Given the description of an element on the screen output the (x, y) to click on. 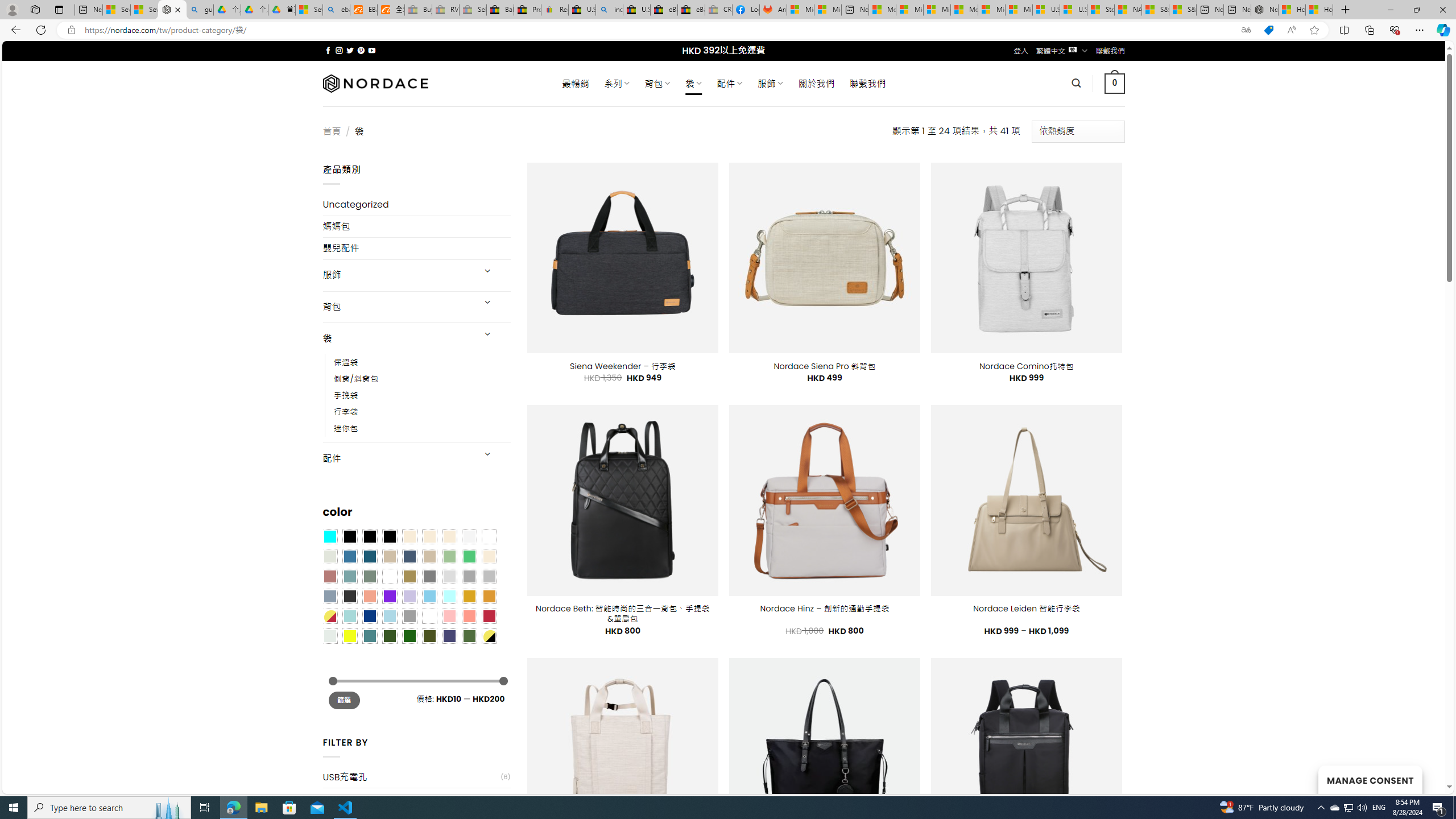
Log into Facebook (746, 9)
Uncategorized (416, 204)
